Given the description of an element on the screen output the (x, y) to click on. 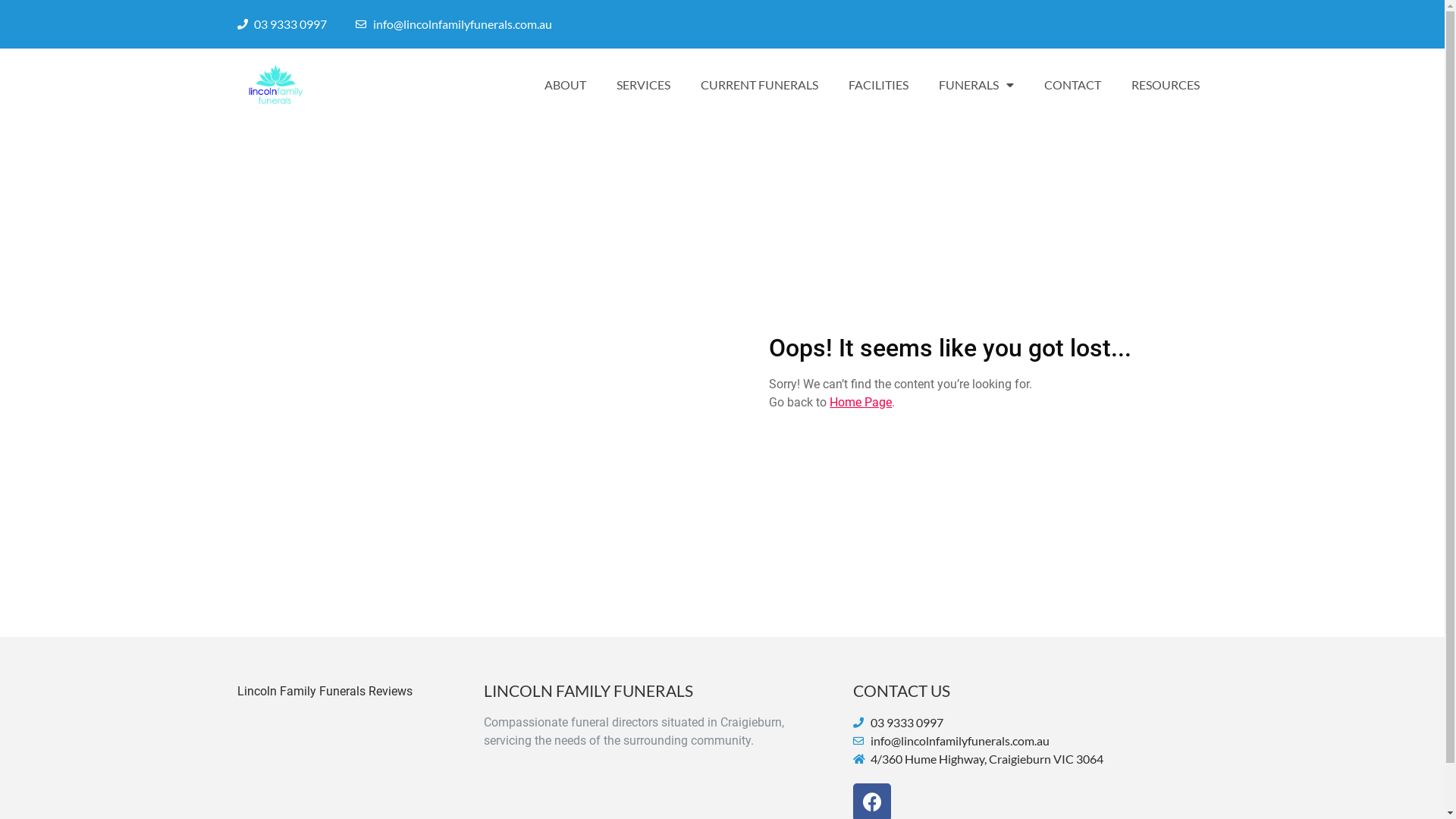
CONTACT Element type: text (1072, 84)
FUNERALS Element type: text (976, 84)
Home Page Element type: text (860, 402)
FACILITIES Element type: text (878, 84)
CURRENT FUNERALS Element type: text (759, 84)
Lincoln Family Funerals Reviews Element type: text (334, 691)
RESOURCES Element type: text (1165, 84)
SERVICES Element type: text (643, 84)
ABOUT Element type: text (565, 84)
